Given the description of an element on the screen output the (x, y) to click on. 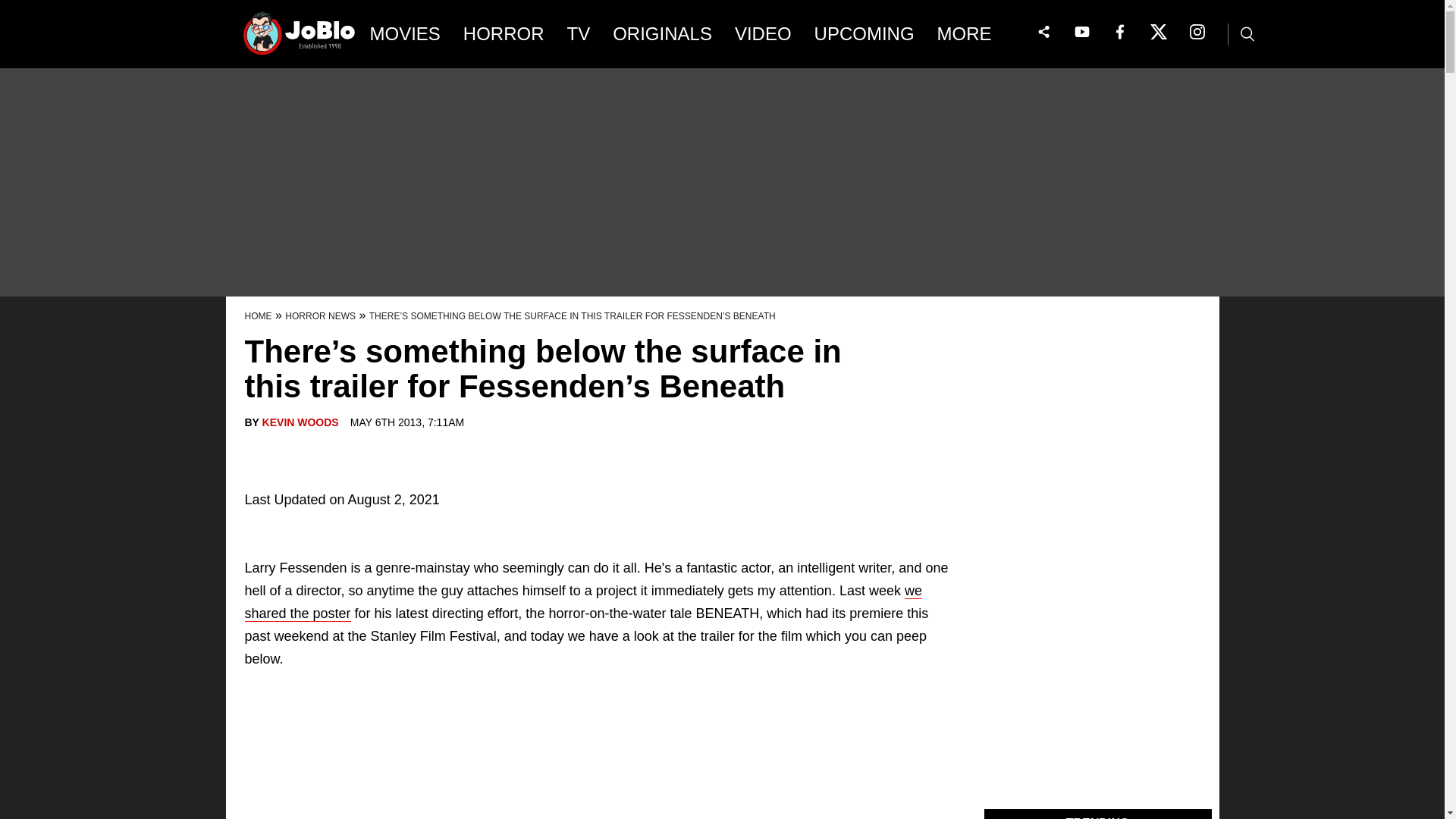
HORROR (503, 34)
MOVIES (405, 34)
JoBlo Logo (299, 38)
ORIGINALS (662, 34)
Go (13, 7)
UPCOMING (863, 34)
MORE (976, 34)
VIDEO (762, 34)
TV (578, 34)
